Given the description of an element on the screen output the (x, y) to click on. 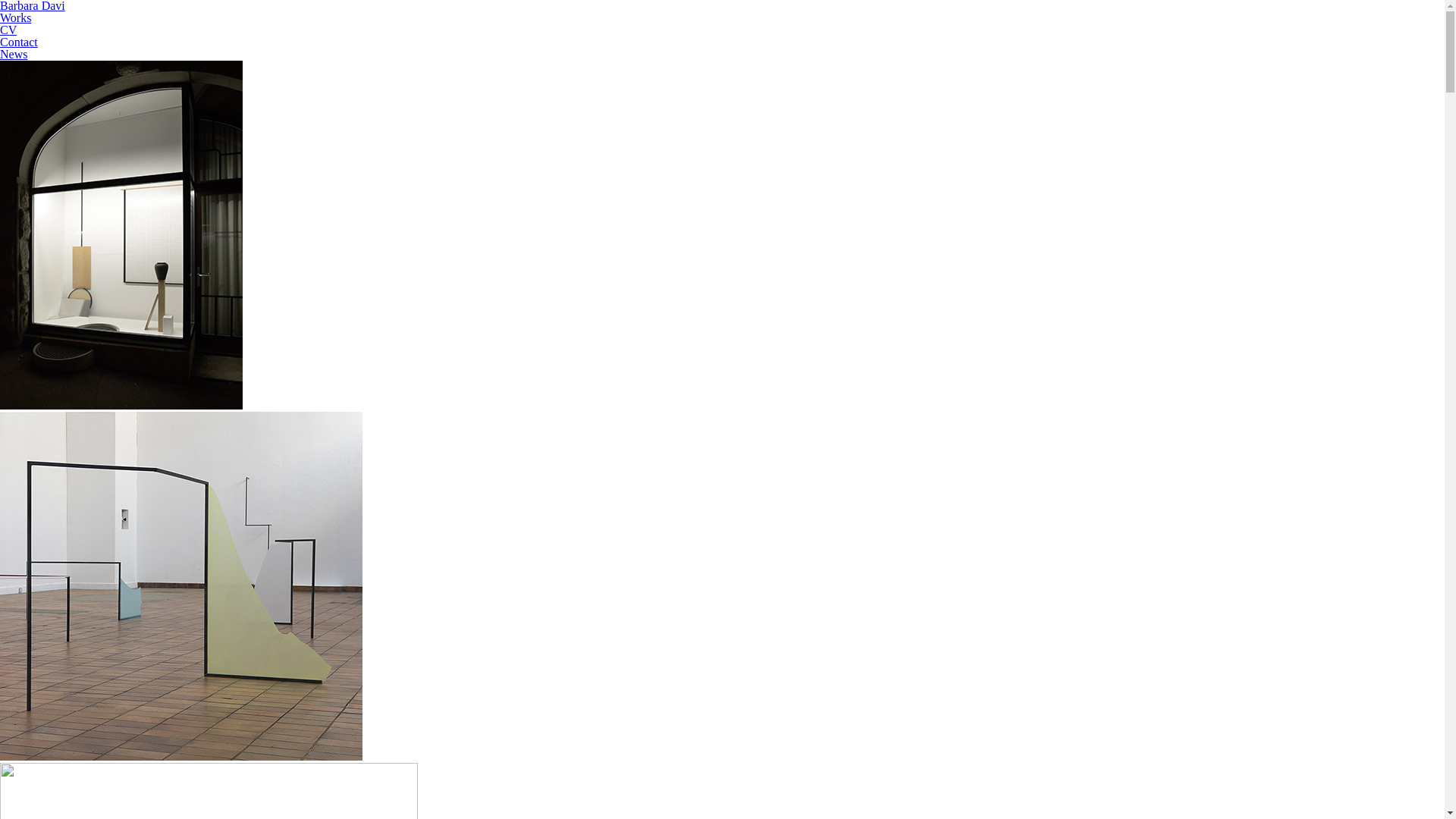
Contact Element type: text (18, 41)
News Element type: text (13, 53)
CV Element type: text (8, 29)
Works Element type: text (15, 17)
